Given the description of an element on the screen output the (x, y) to click on. 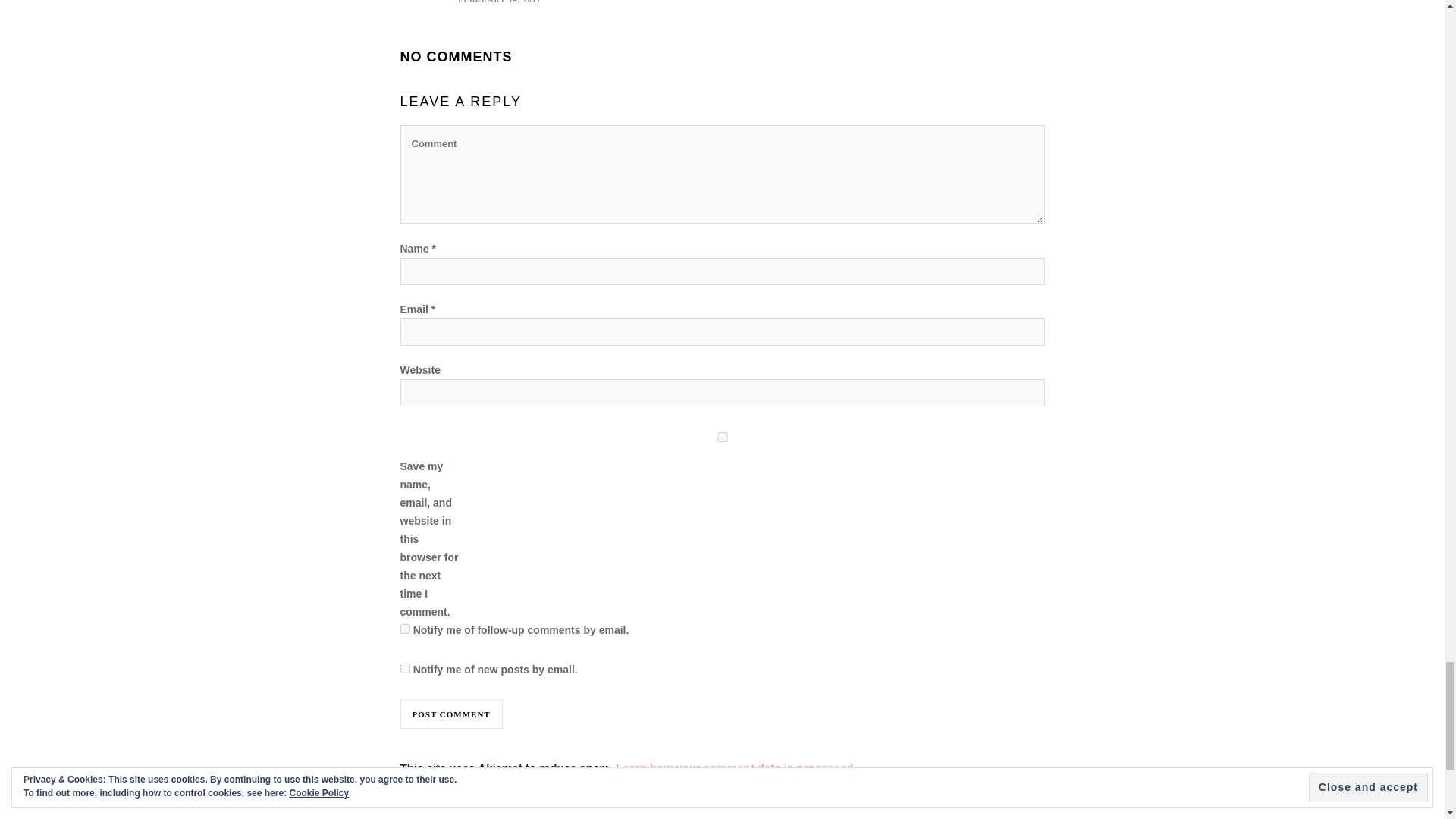
FEBRUARY 14, 2017 (499, 2)
subscribe (405, 628)
Post Comment (451, 714)
yes (722, 437)
subscribe (405, 668)
Learn how your comment data is processed (734, 767)
Post Comment (451, 714)
